Given the description of an element on the screen output the (x, y) to click on. 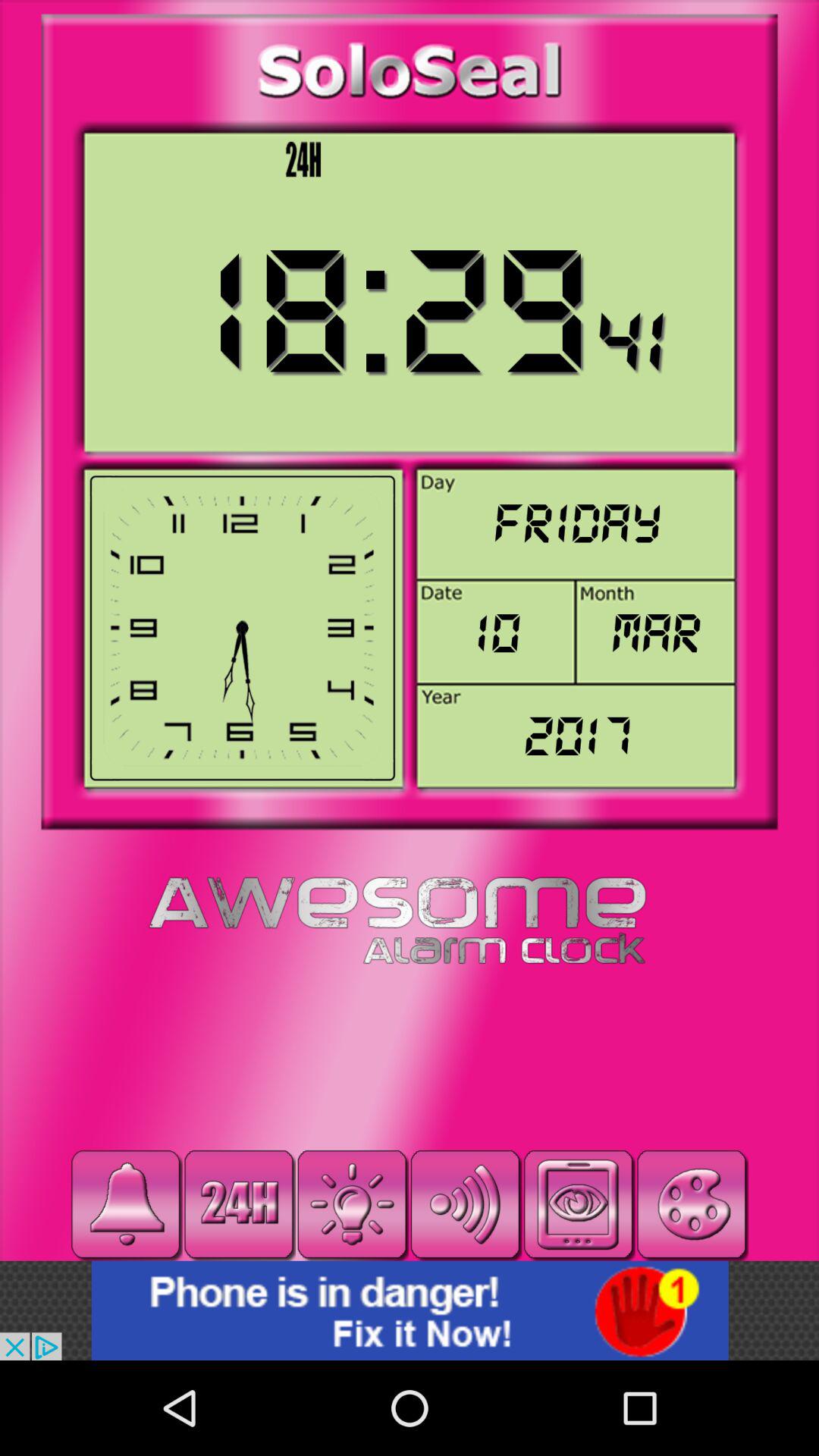
24hr clock mode (238, 1203)
